Given the description of an element on the screen output the (x, y) to click on. 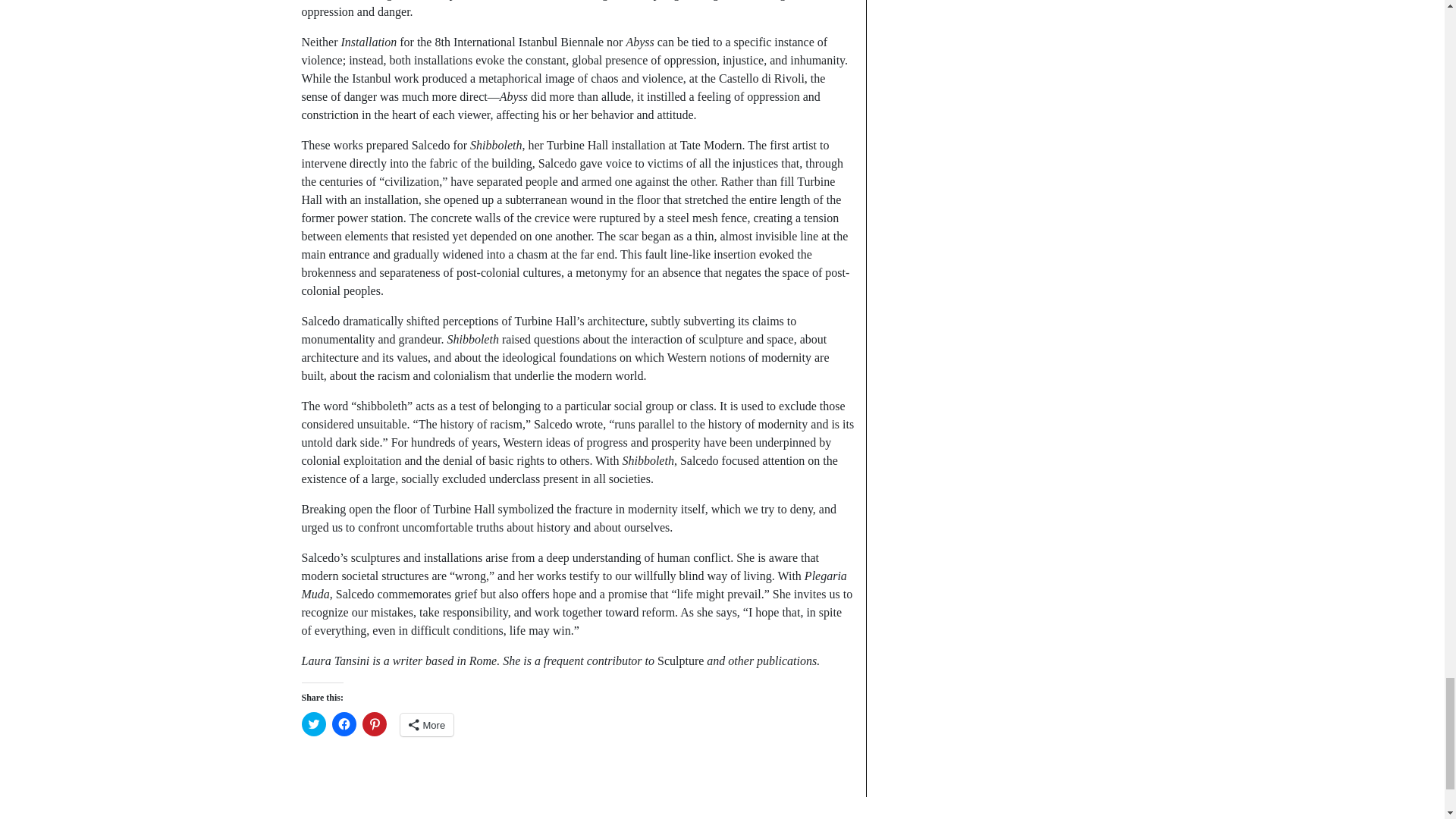
More (427, 724)
Click to share on Pinterest (374, 723)
Click to share on Twitter (313, 723)
Click to share on Facebook (343, 723)
